Given the description of an element on the screen output the (x, y) to click on. 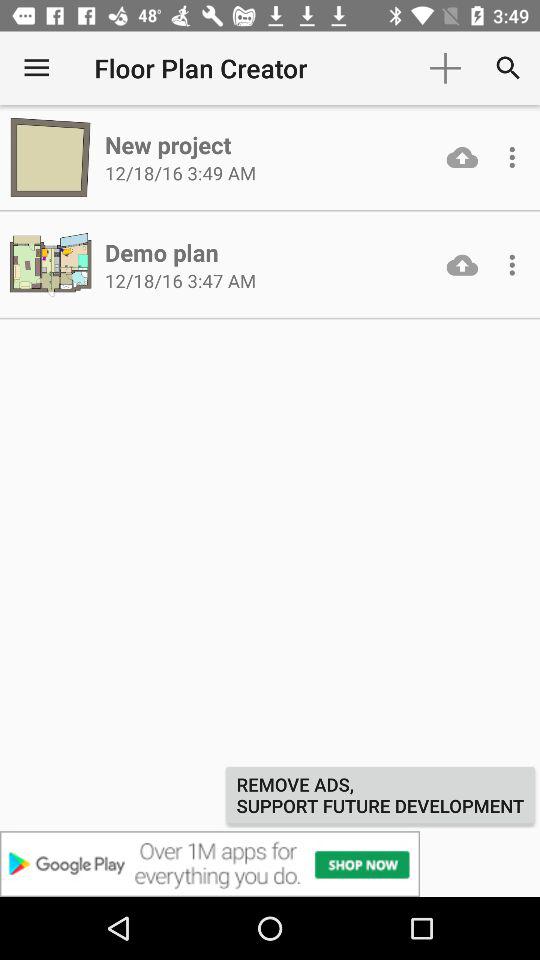
open options menu (512, 265)
